Given the description of an element on the screen output the (x, y) to click on. 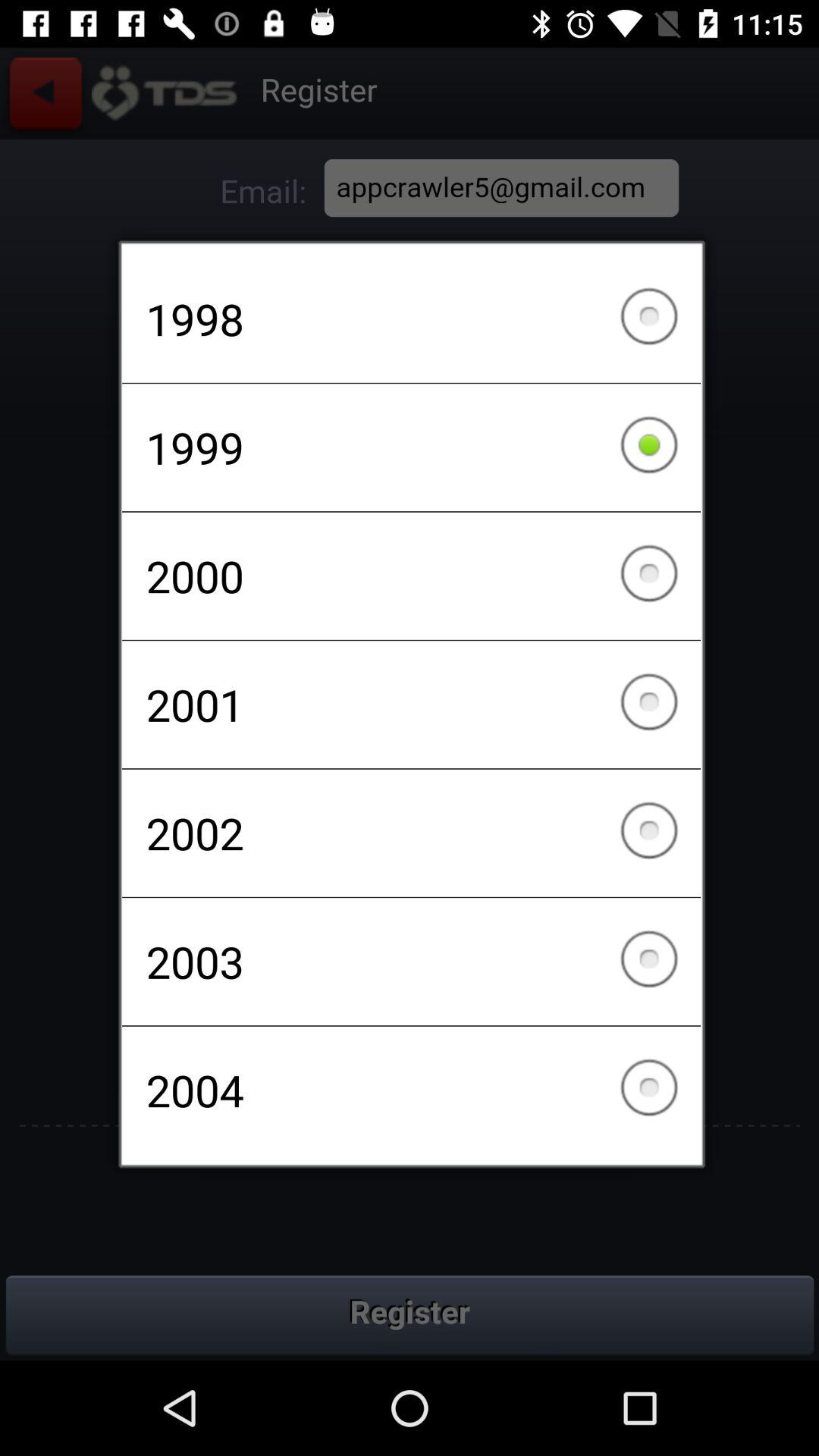
swipe until 2001 (411, 704)
